Given the description of an element on the screen output the (x, y) to click on. 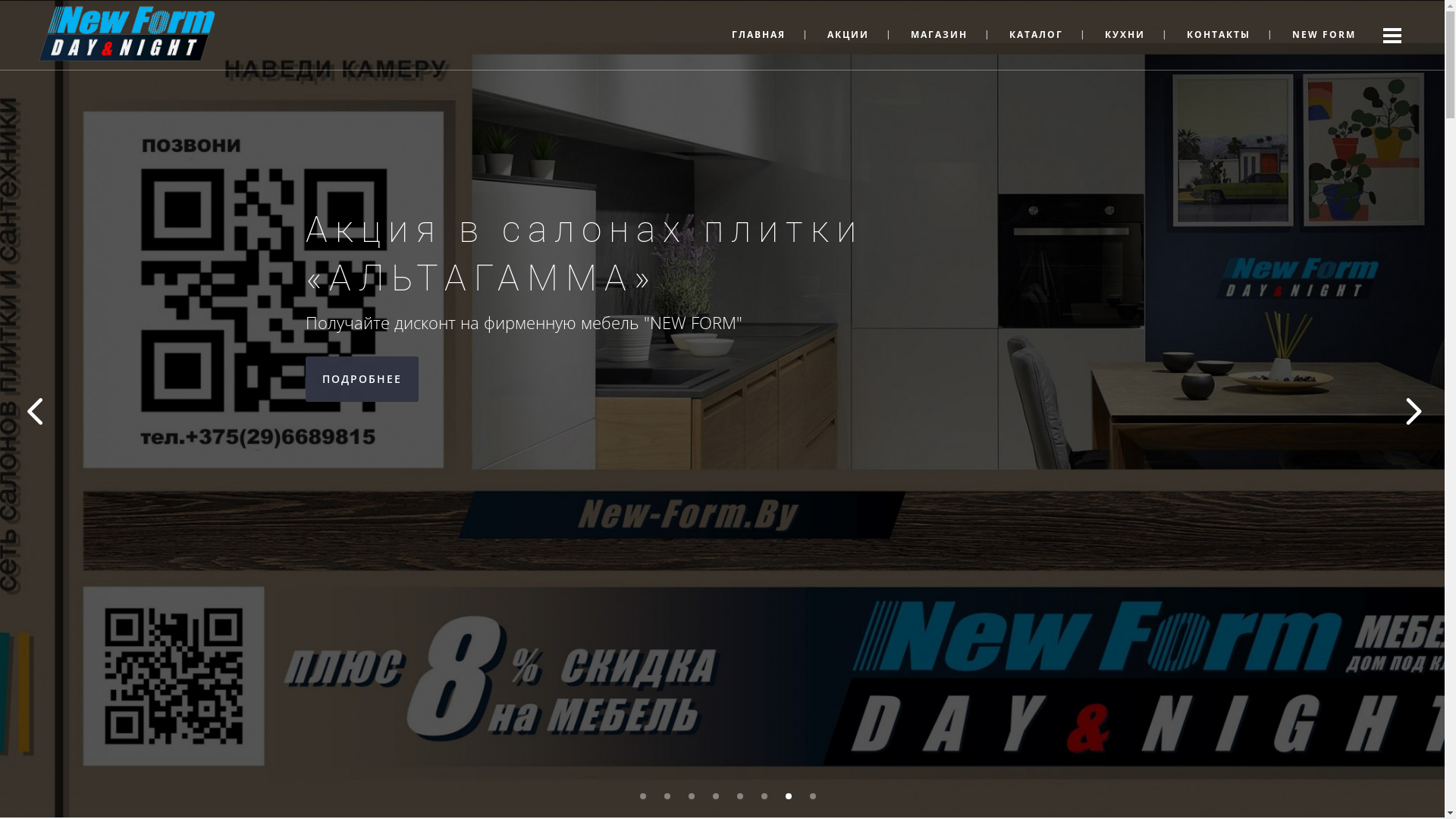
  Element type: text (1392, 34)
NEW FORM Element type: text (1324, 34)
